Given the description of an element on the screen output the (x, y) to click on. 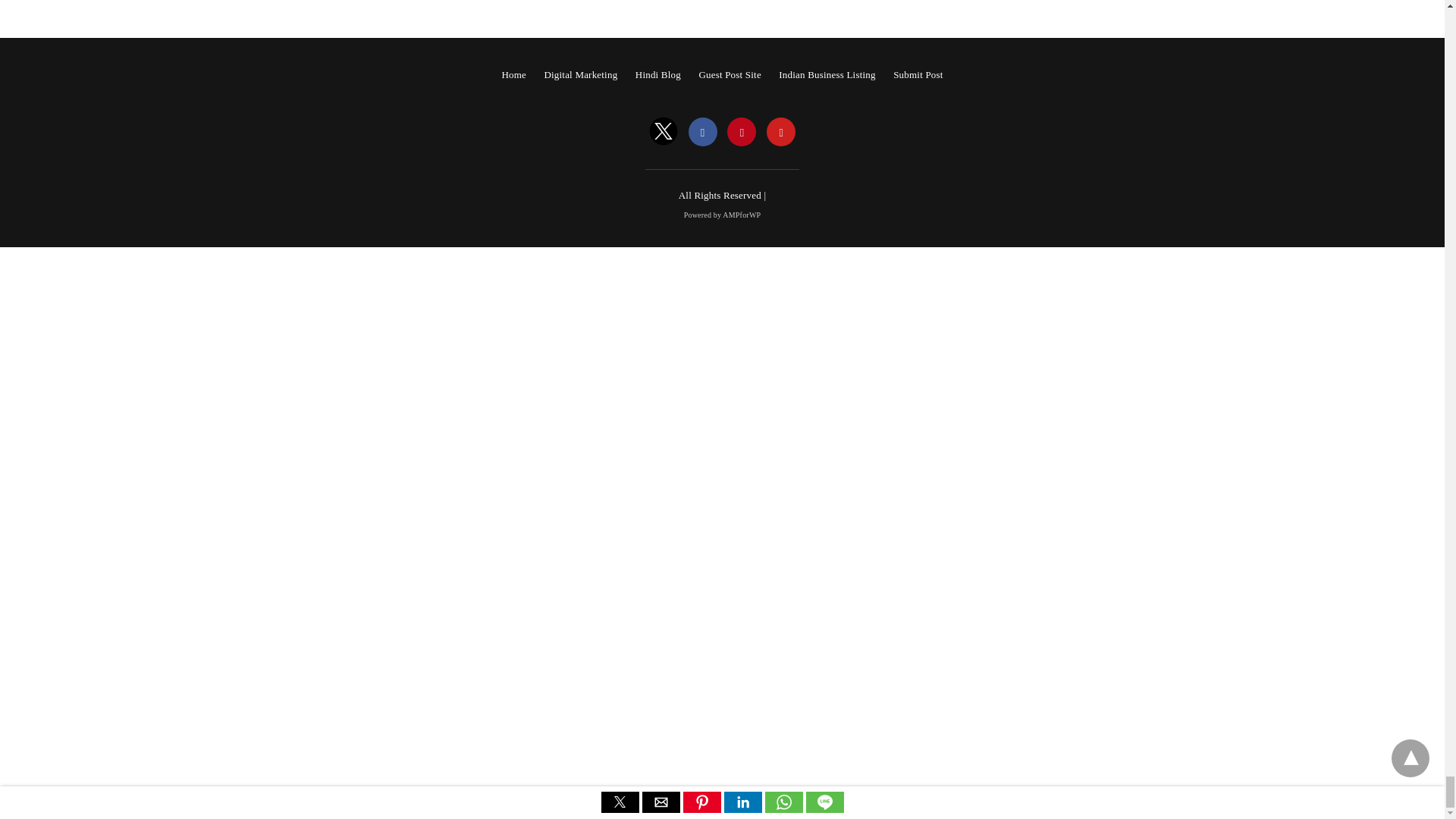
twitter profile (663, 132)
Digital Marketing (580, 74)
Home (512, 74)
